Given the description of an element on the screen output the (x, y) to click on. 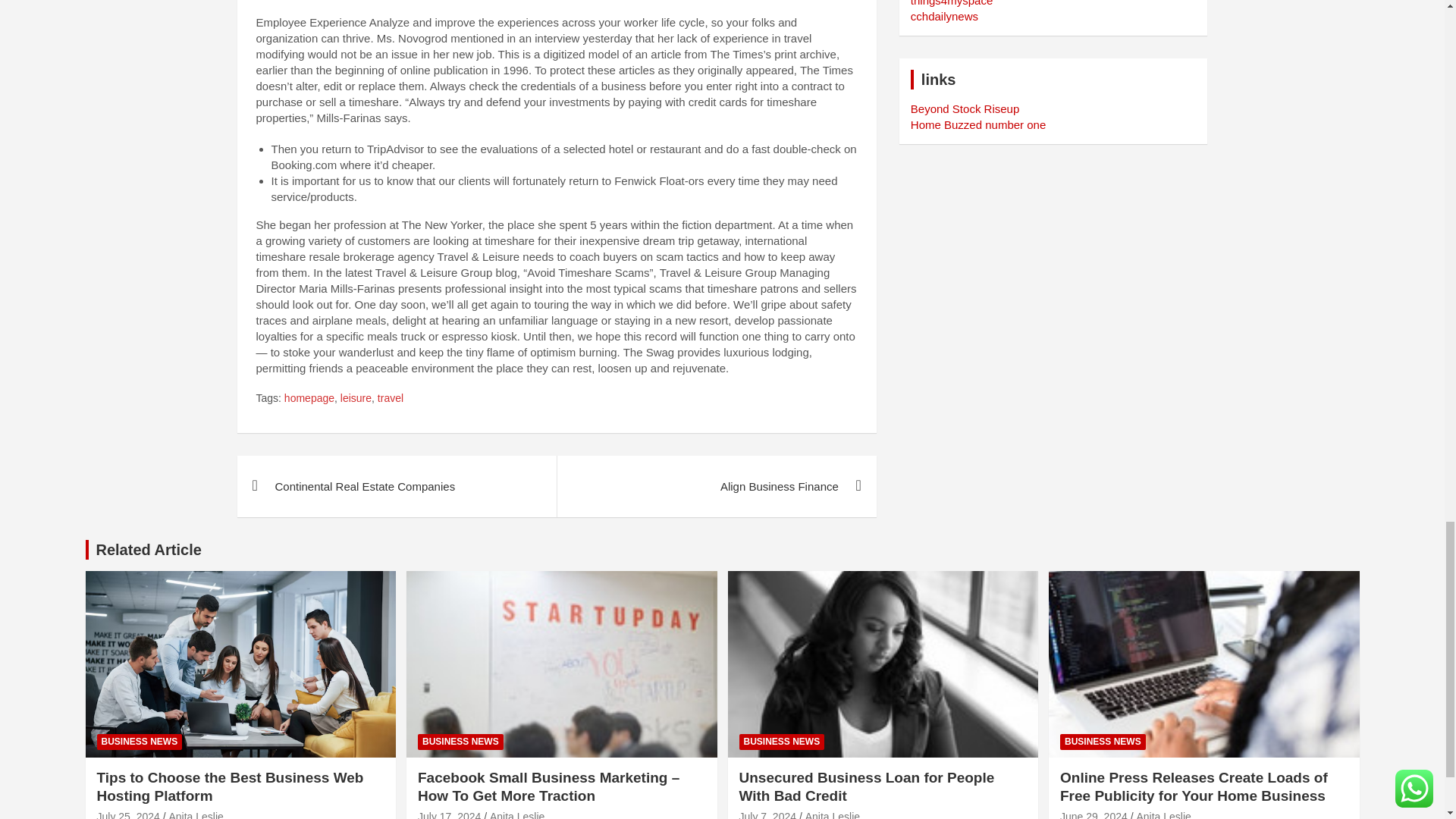
travel (390, 398)
Align Business Finance (716, 485)
Continental Real Estate Companies (395, 485)
homepage (308, 398)
Tips to Choose the Best Business Web Hosting Platform (128, 814)
leisure (355, 398)
Unsecured Business Loan for People With Bad Credit (767, 814)
